Given the description of an element on the screen output the (x, y) to click on. 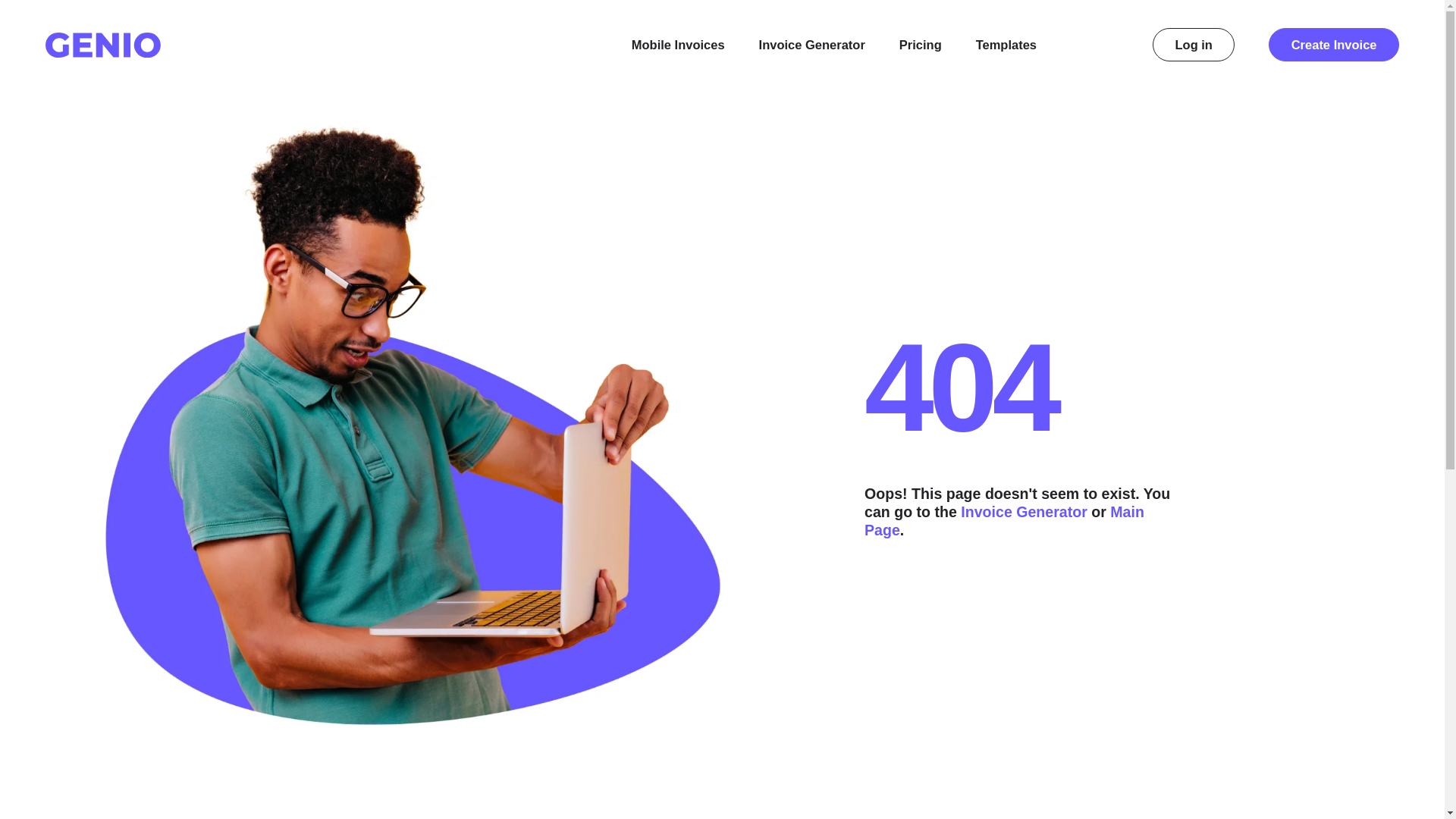
Templates (1018, 44)
Log in (1193, 44)
Invoice Generator (811, 44)
Pricing (920, 44)
Create Invoice (1333, 44)
Main Page (1004, 520)
Mobile Invoices (678, 44)
Invoice Generator (1023, 511)
